Given the description of an element on the screen output the (x, y) to click on. 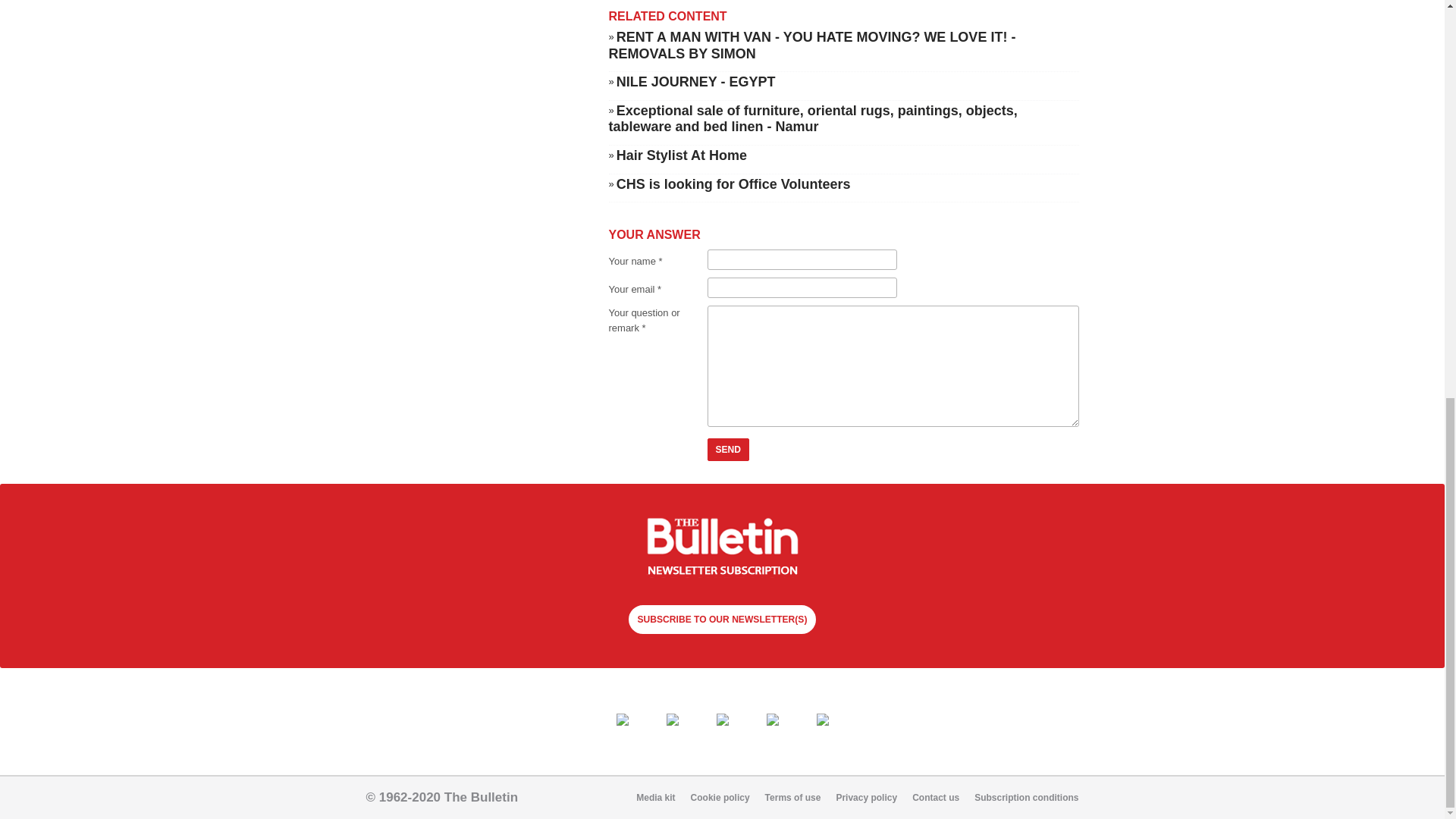
Hair Stylist At Home (680, 155)
NILE JOURNEY - EGYPT (695, 81)
Subscribe now (721, 547)
Close (238, 107)
Send (727, 449)
Send (727, 449)
CHS is looking for Office Volunteers (732, 183)
